Given the description of an element on the screen output the (x, y) to click on. 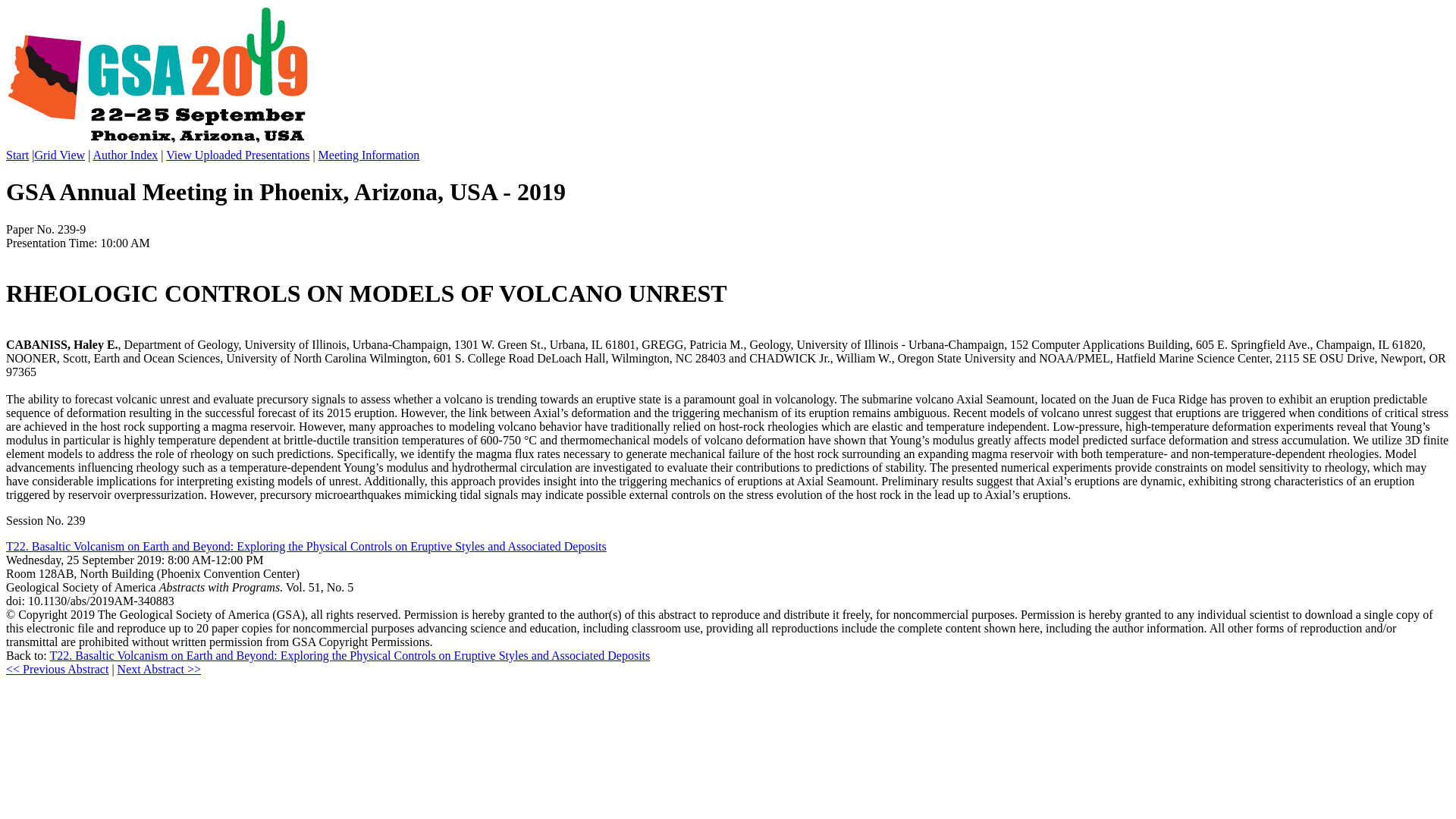
Author Index (125, 154)
Start (17, 154)
Grid View (58, 154)
View Uploaded Presentations (236, 154)
Meeting Information (369, 154)
